Given the description of an element on the screen output the (x, y) to click on. 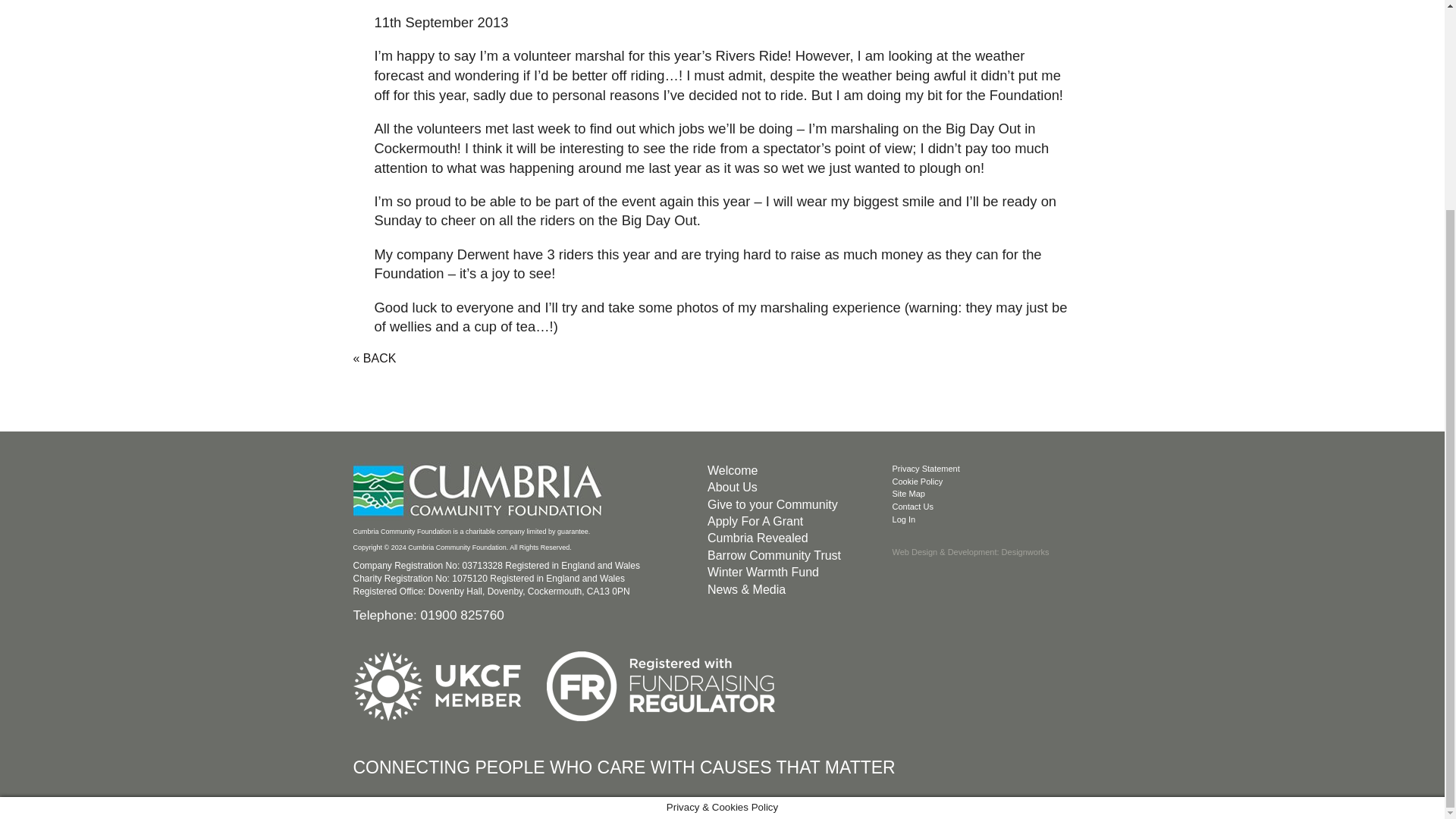
FR-Fundraising-Badge-Mono-HR (660, 686)
UK Community Foundations Member (437, 686)
ccf-logo (480, 490)
